Given the description of an element on the screen output the (x, y) to click on. 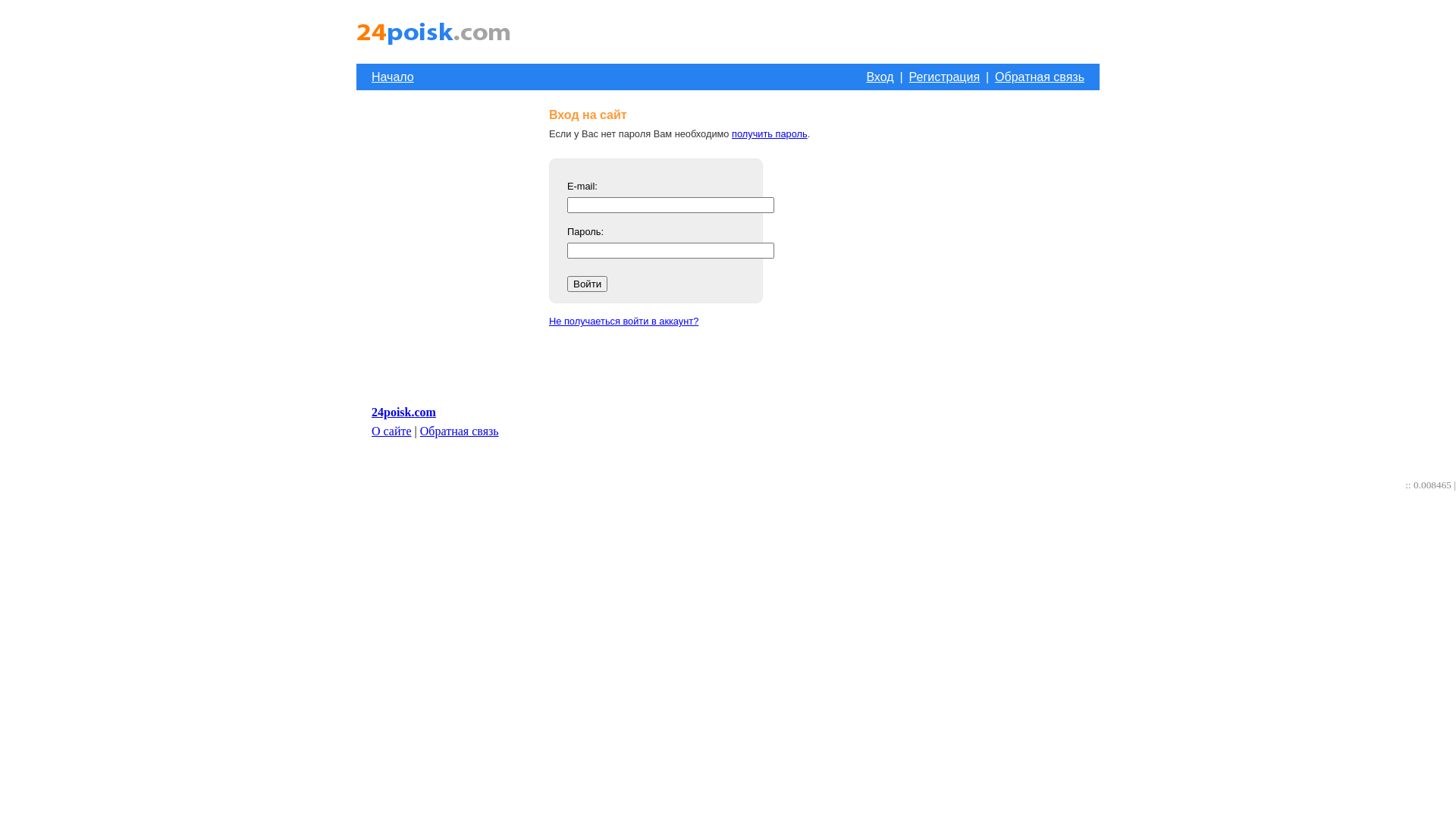
24poisk.com Element type: text (403, 411)
